Given the description of an element on the screen output the (x, y) to click on. 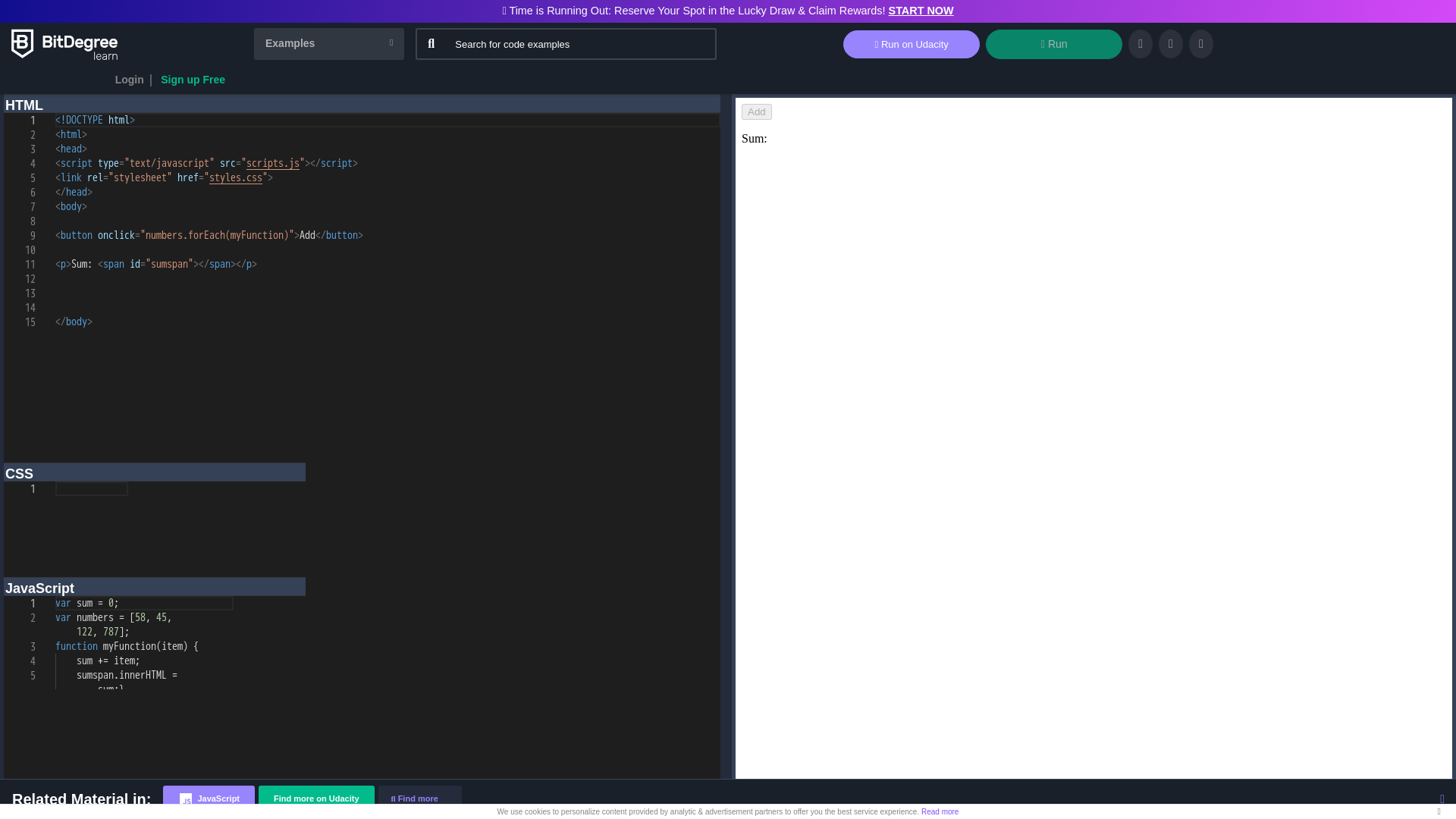
Run on Udacity (911, 44)
Login (129, 80)
START NOW (920, 10)
Find more on Udacity (316, 798)
Read more (939, 811)
JavaScript (208, 798)
Search (328, 43)
Find more (419, 798)
Sign up Free (192, 80)
Run (1053, 43)
Examples (328, 43)
